Given the description of an element on the screen output the (x, y) to click on. 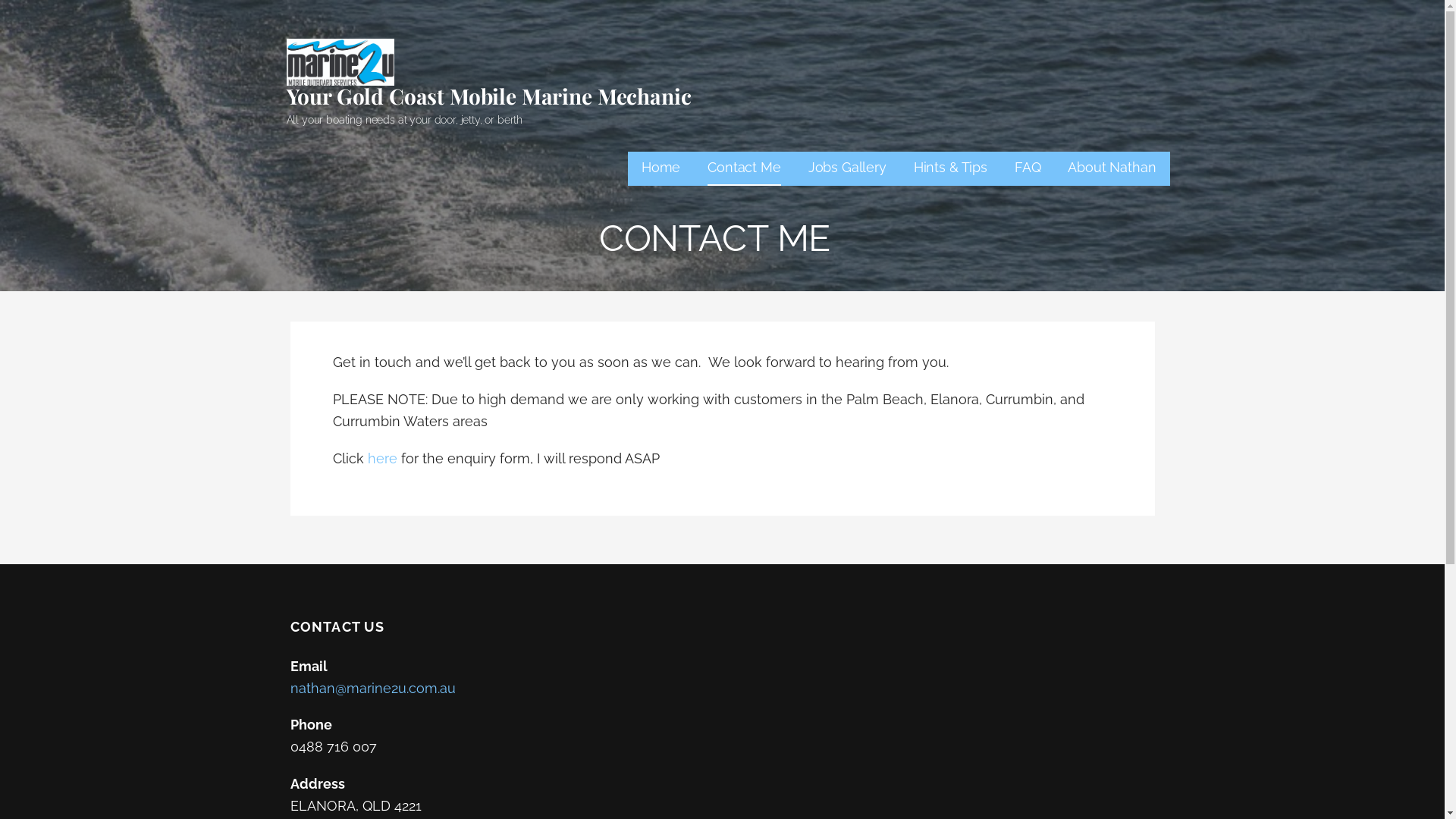
FAQ Element type: text (1027, 168)
Jobs Gallery Element type: text (847, 168)
About Nathan Element type: text (1111, 168)
Home Element type: text (660, 168)
Hints & Tips Element type: text (950, 168)
nathan@marine2u.com.au Element type: text (372, 688)
Your Gold Coast Mobile Marine Mechanic Element type: text (488, 95)
Contact Me Element type: text (743, 168)
here Element type: text (381, 458)
